Given the description of an element on the screen output the (x, y) to click on. 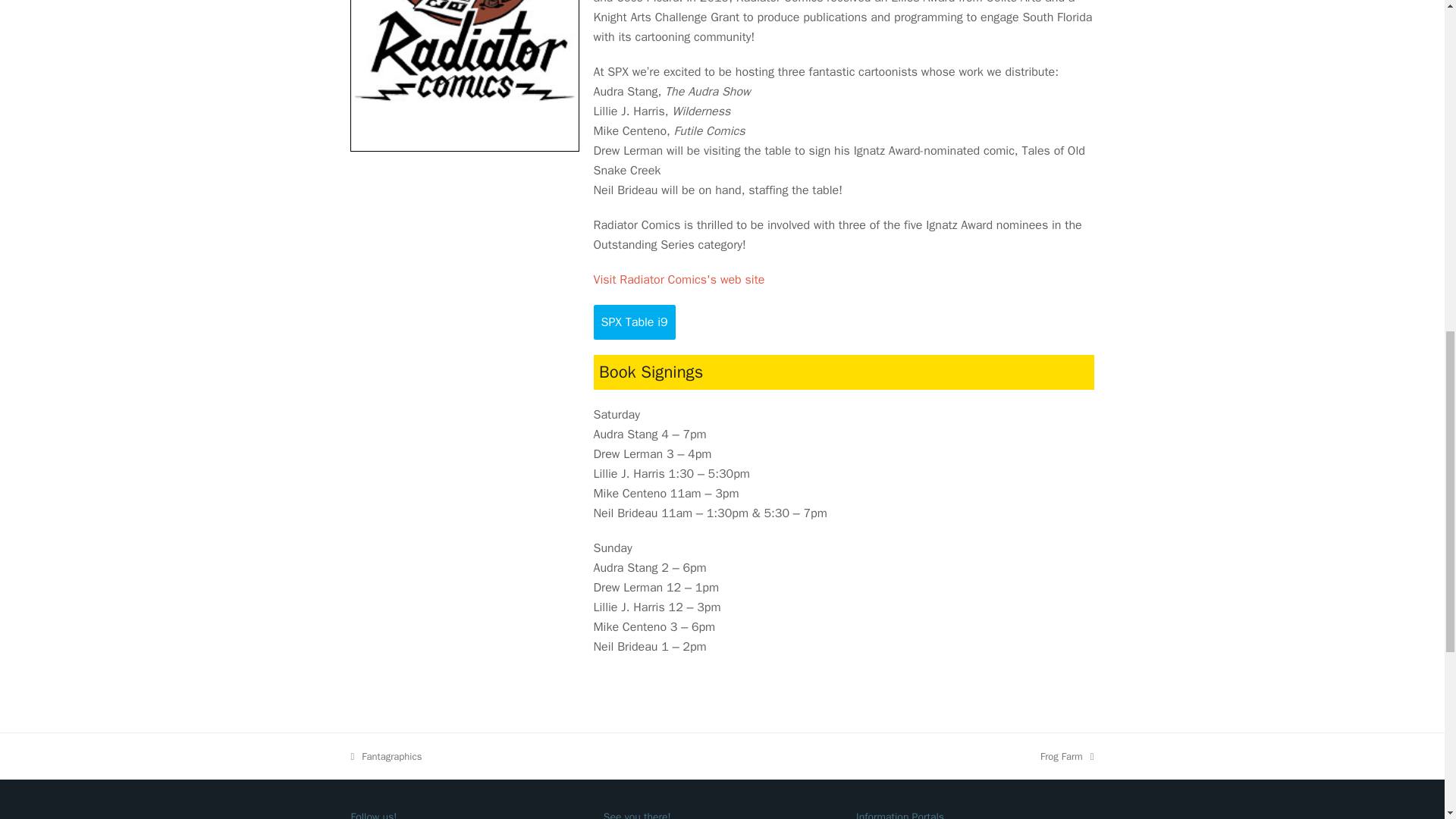
Visit Radiator Comics's web site (386, 756)
